Given the description of an element on the screen output the (x, y) to click on. 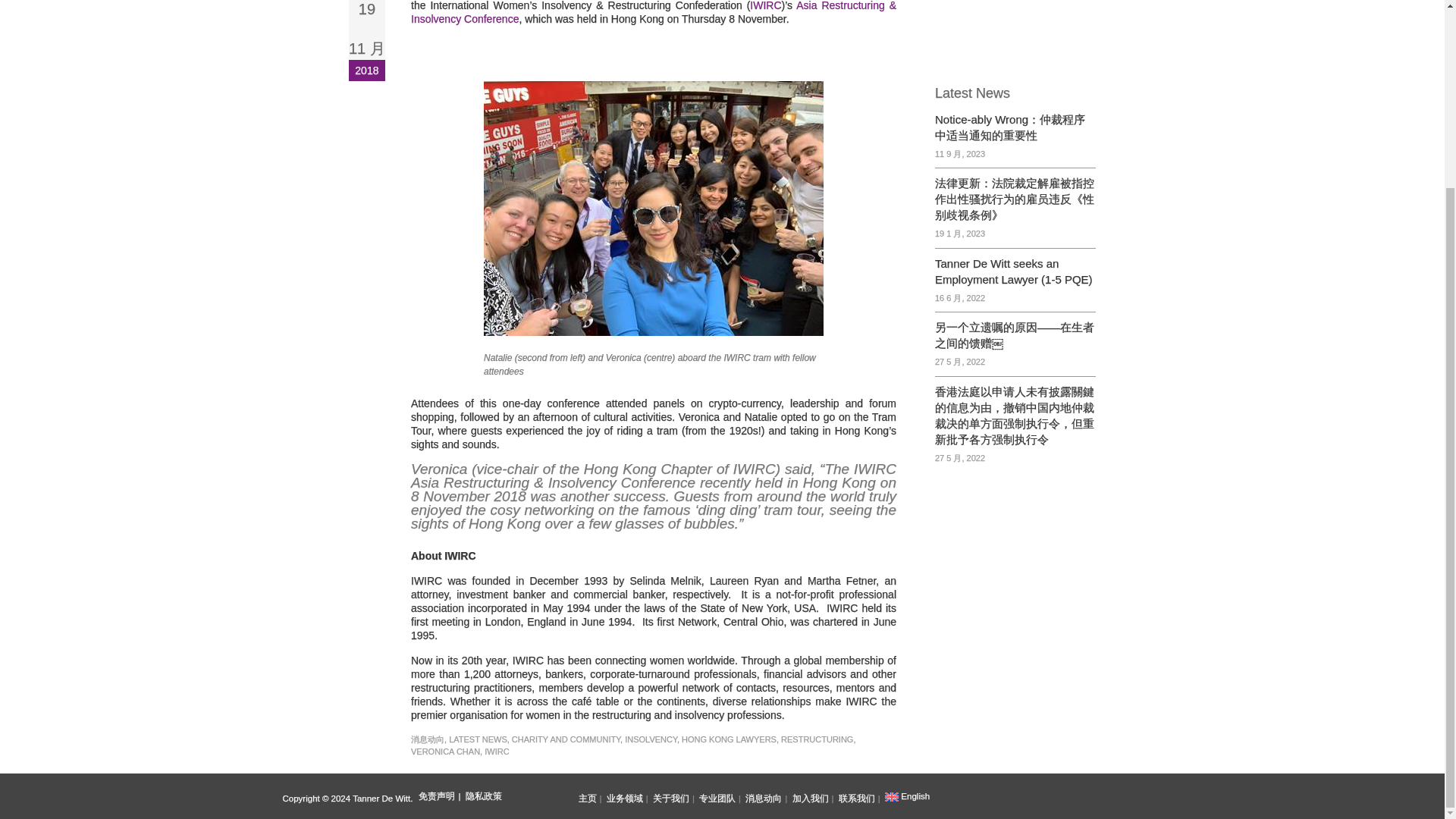
VERONICA CHAN (445, 750)
IWIRC (764, 5)
IWIRC (496, 750)
English (909, 796)
RESTRUCTURING (816, 738)
HONG KONG LAWYERS (728, 738)
INSOLVENCY (650, 738)
CHARITY AND COMMUNITY (566, 738)
LATEST NEWS (477, 738)
